Given the description of an element on the screen output the (x, y) to click on. 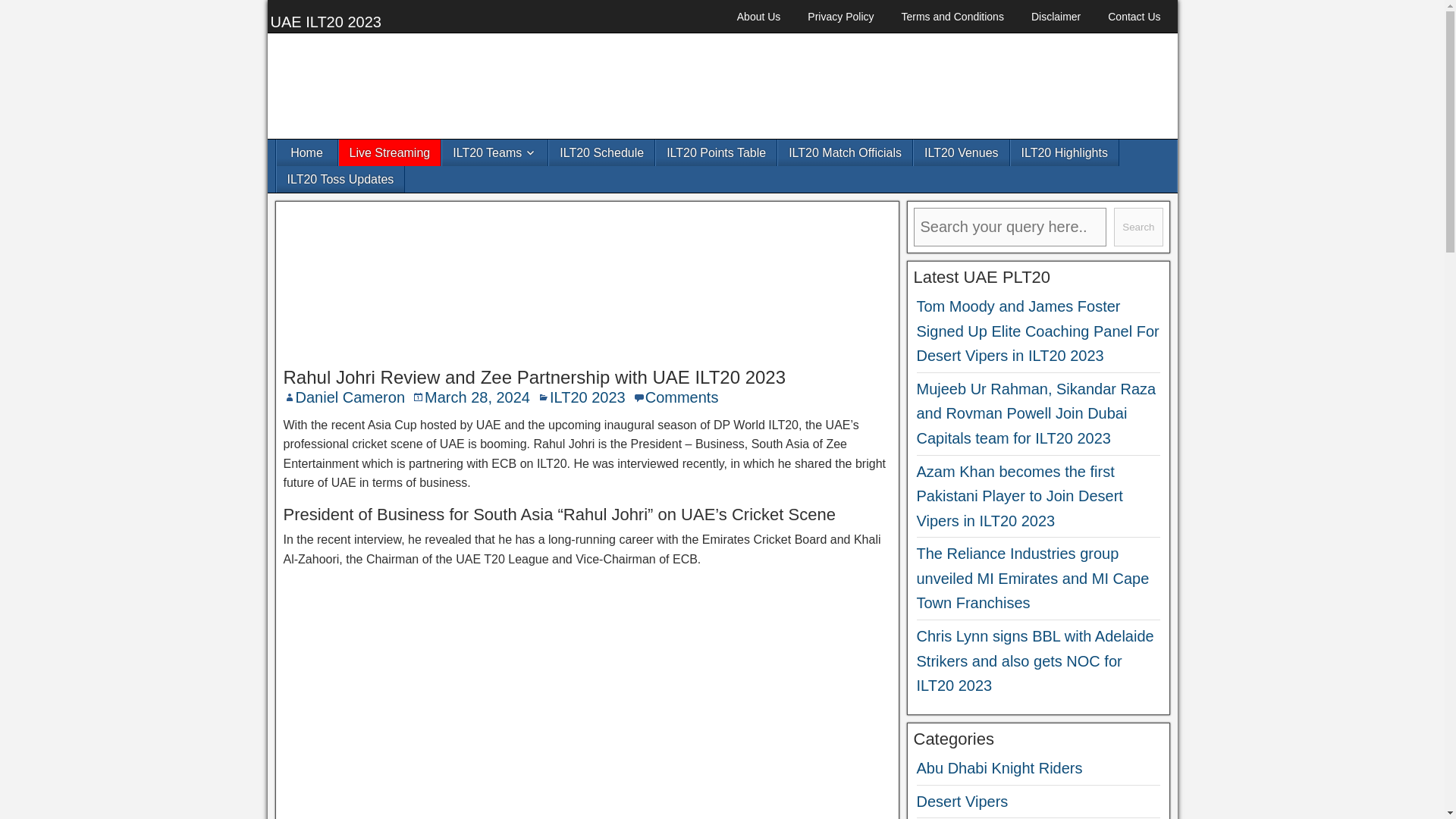
ILT20 Highlights (1064, 152)
Disclaimer (1055, 16)
ILT20 Toss Updates (340, 179)
UAE ILT20 2023 (324, 21)
Privacy Policy (839, 16)
About Us (758, 16)
Home (306, 152)
ILT20 Teams (494, 152)
Terms and Conditions (951, 16)
Daniel Cameron (350, 397)
